Given the description of an element on the screen output the (x, y) to click on. 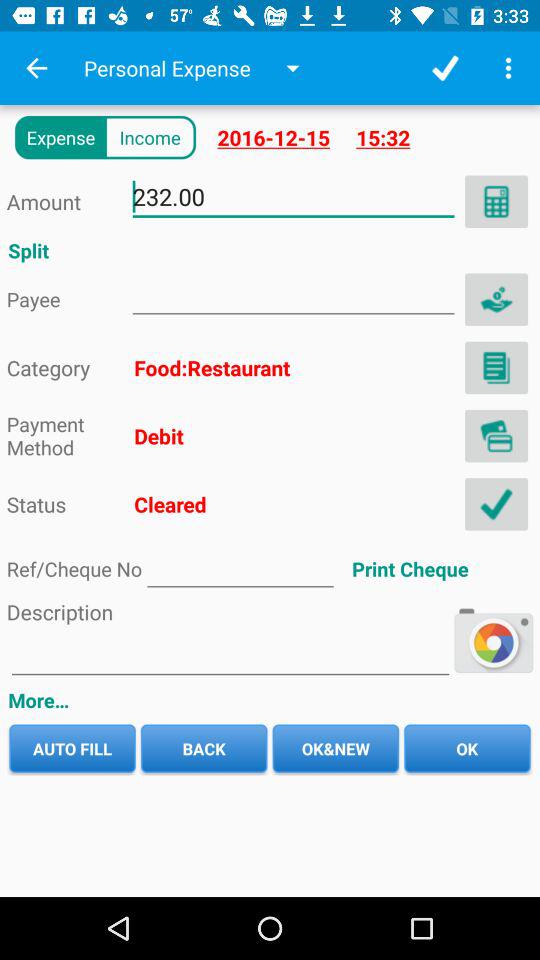
advertisement page (293, 294)
